Given the description of an element on the screen output the (x, y) to click on. 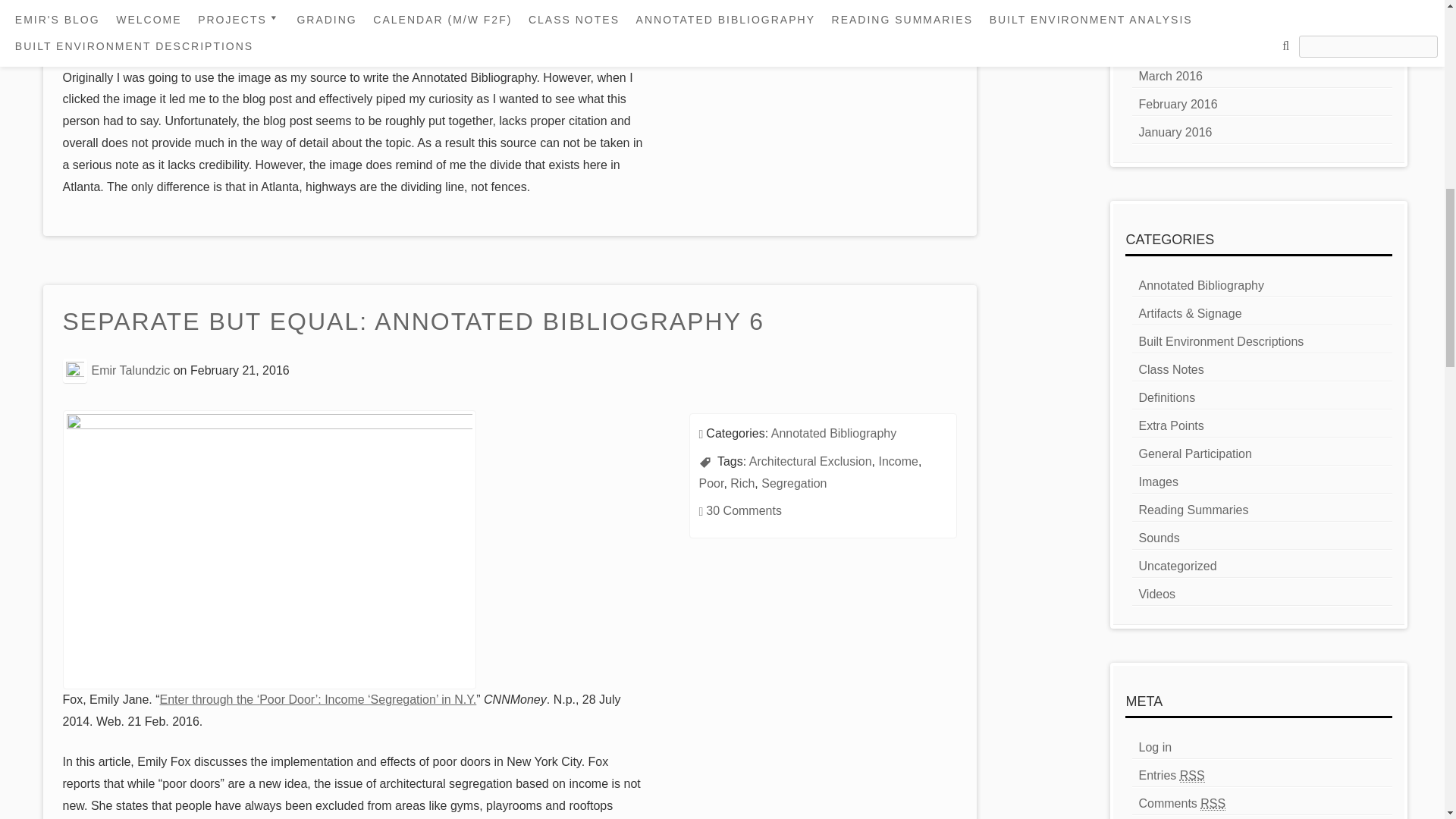
Really Simple Syndication (1192, 775)
SEPARATE BUT EQUAL: ANNOTATED BIBLIOGRAPHY 6 (413, 322)
Architectural Exclusion (810, 461)
Income (897, 461)
Really Simple Syndication (1212, 803)
Emir Talundzic (130, 369)
Annotated Bibliography (833, 432)
The latest comments to all posts in RSS (1181, 803)
Syndicate this site using RSS 2.0 (1171, 775)
